Given the description of an element on the screen output the (x, y) to click on. 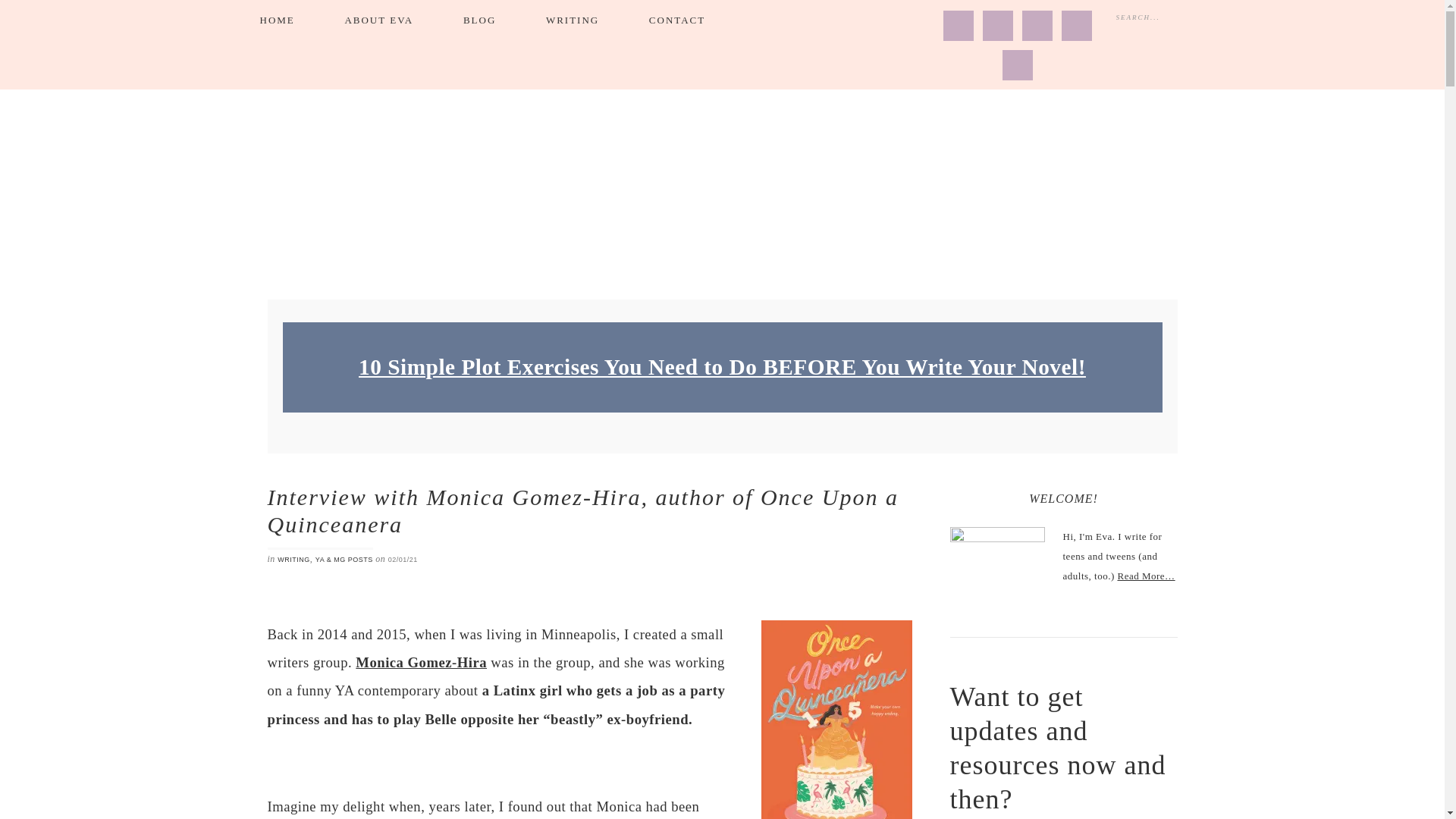
WRITING (294, 559)
WRITING (571, 20)
Monica Gomez-Hira (420, 662)
BLOG (479, 20)
HOME (276, 20)
ABOUT EVA (378, 20)
